Given the description of an element on the screen output the (x, y) to click on. 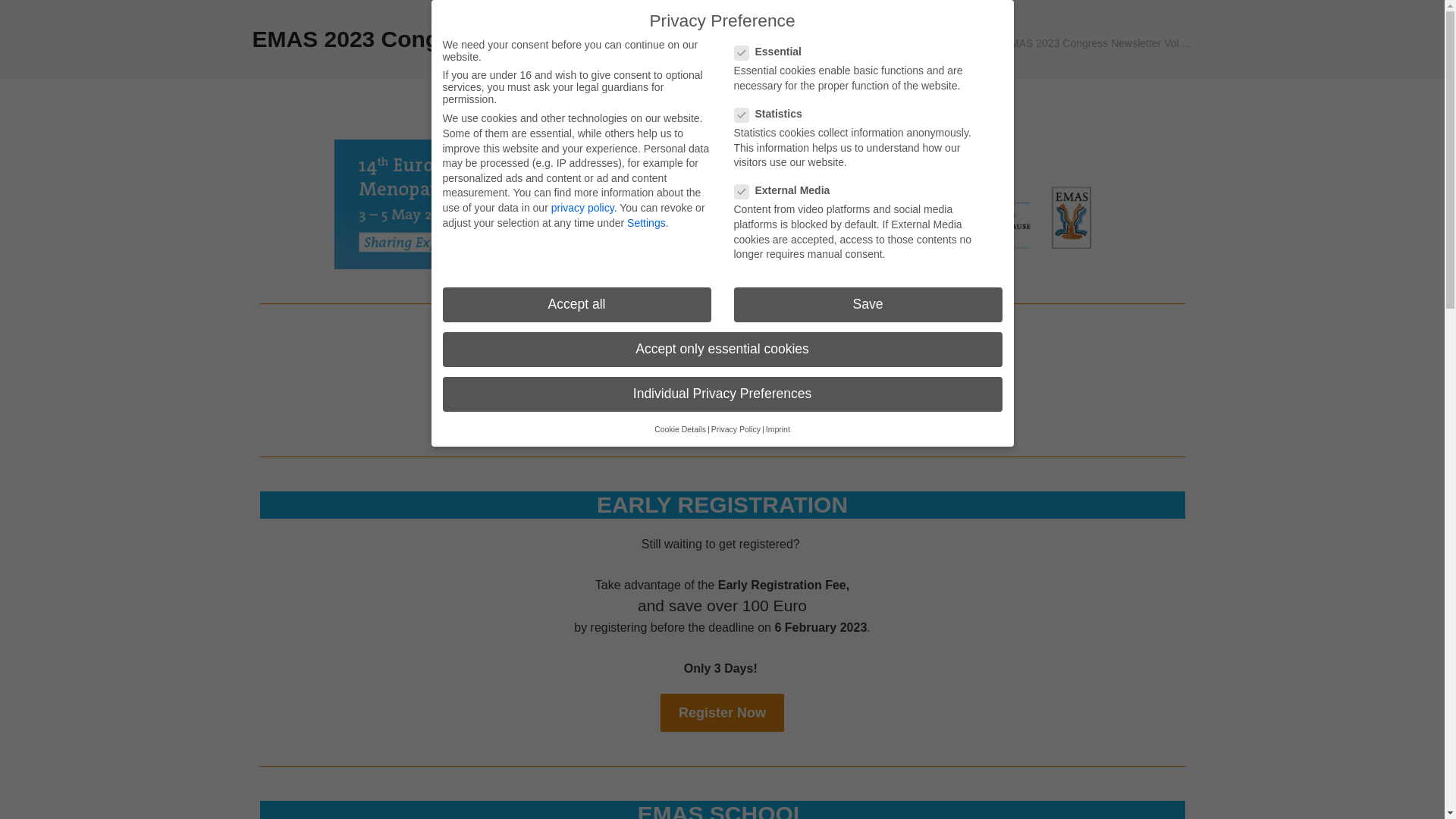
Home (912, 42)
Open Cookie Preferences (32, 798)
privacy policy (582, 207)
Allgemein (963, 42)
Home (912, 42)
Allgemein (963, 42)
Register Now (722, 712)
